Given the description of an element on the screen output the (x, y) to click on. 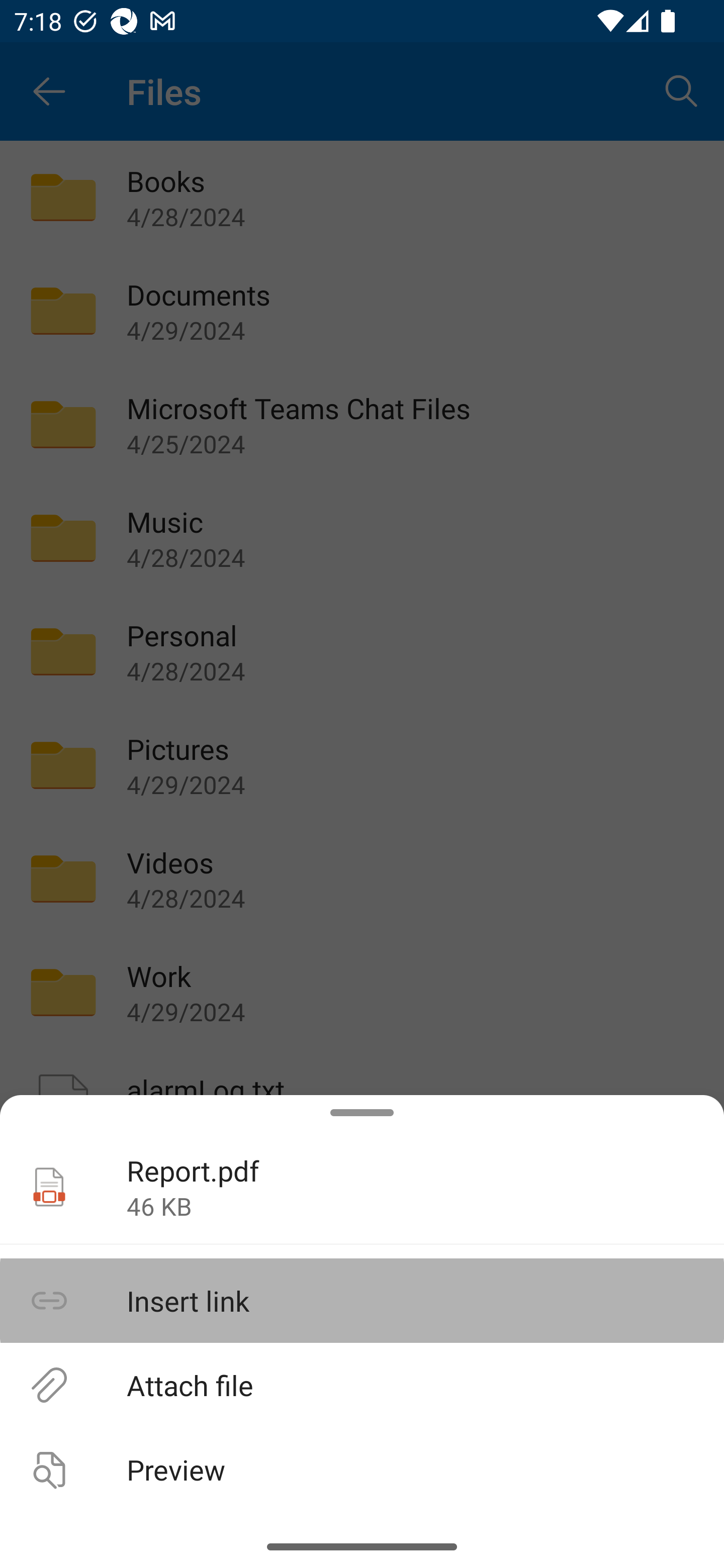
Insert link (362, 1300)
Attach file (362, 1384)
Preview (362, 1468)
